Given the description of an element on the screen output the (x, y) to click on. 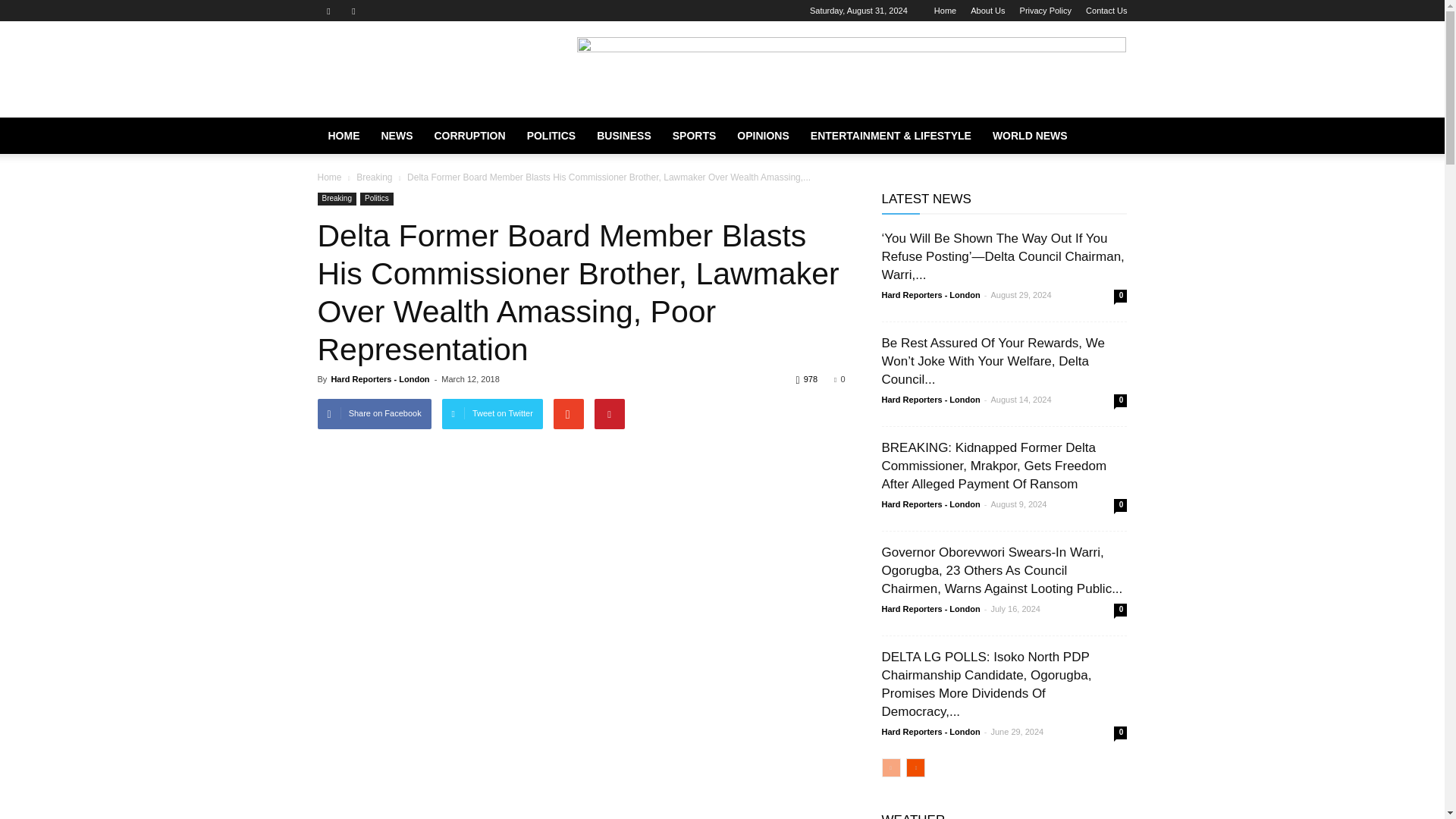
HOME (343, 135)
Twitter (353, 10)
SPORTS (694, 135)
Facebook (328, 10)
Privacy Policy (1045, 10)
Contact Us (1106, 10)
WORLD NEWS (1029, 135)
POLITICS (551, 135)
CORRUPTION (469, 135)
About Us (987, 10)
